Given the description of an element on the screen output the (x, y) to click on. 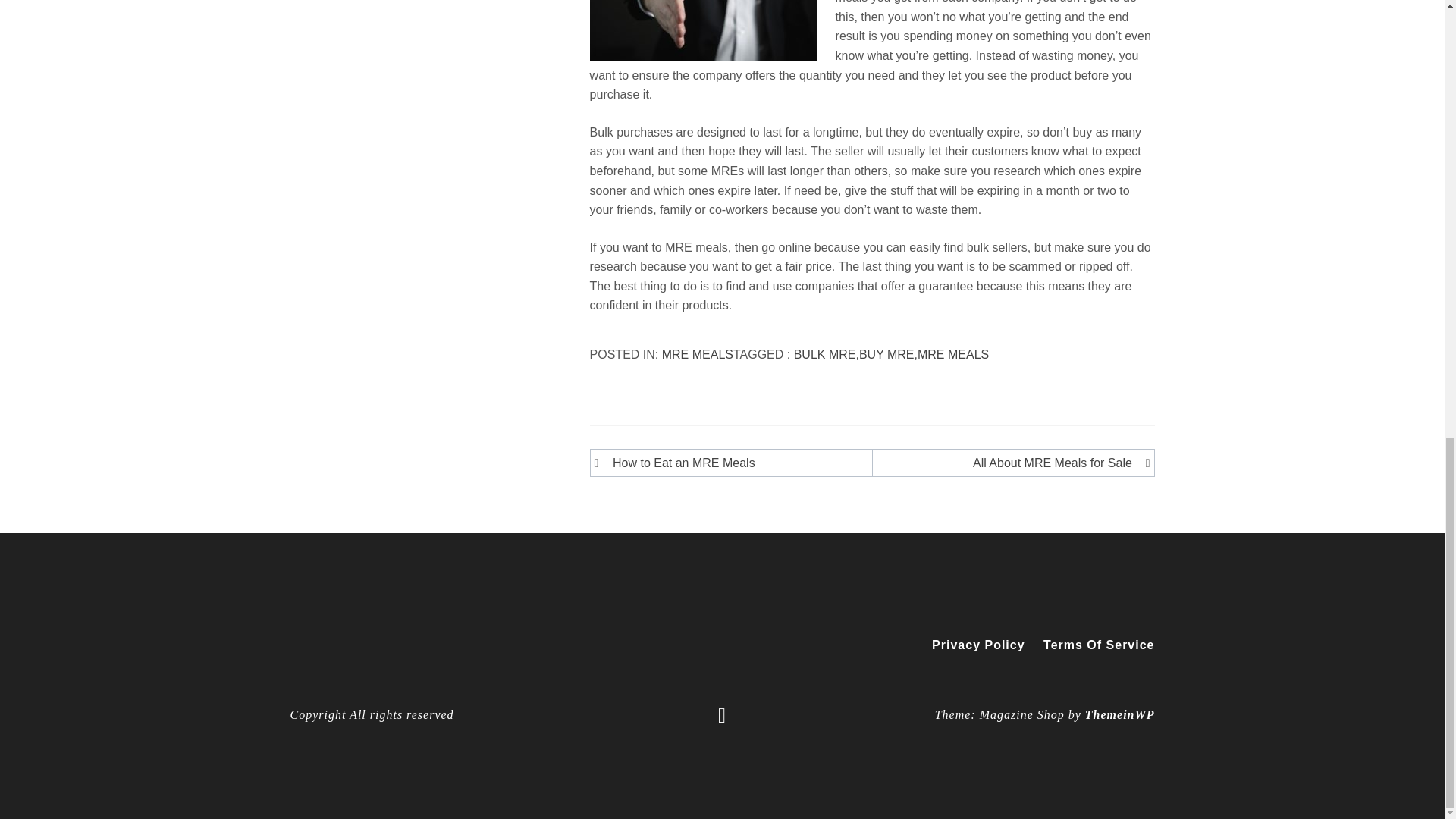
MRE MEALS (697, 354)
ThemeinWP (1119, 714)
BUY MRE (886, 354)
Terms Of Service (1094, 645)
Privacy Policy (978, 645)
BULK MRE (824, 354)
MRE MEALS (952, 354)
All About MRE Meals for Sale (1009, 463)
How to Eat an MRE Meals (734, 463)
